Given the description of an element on the screen output the (x, y) to click on. 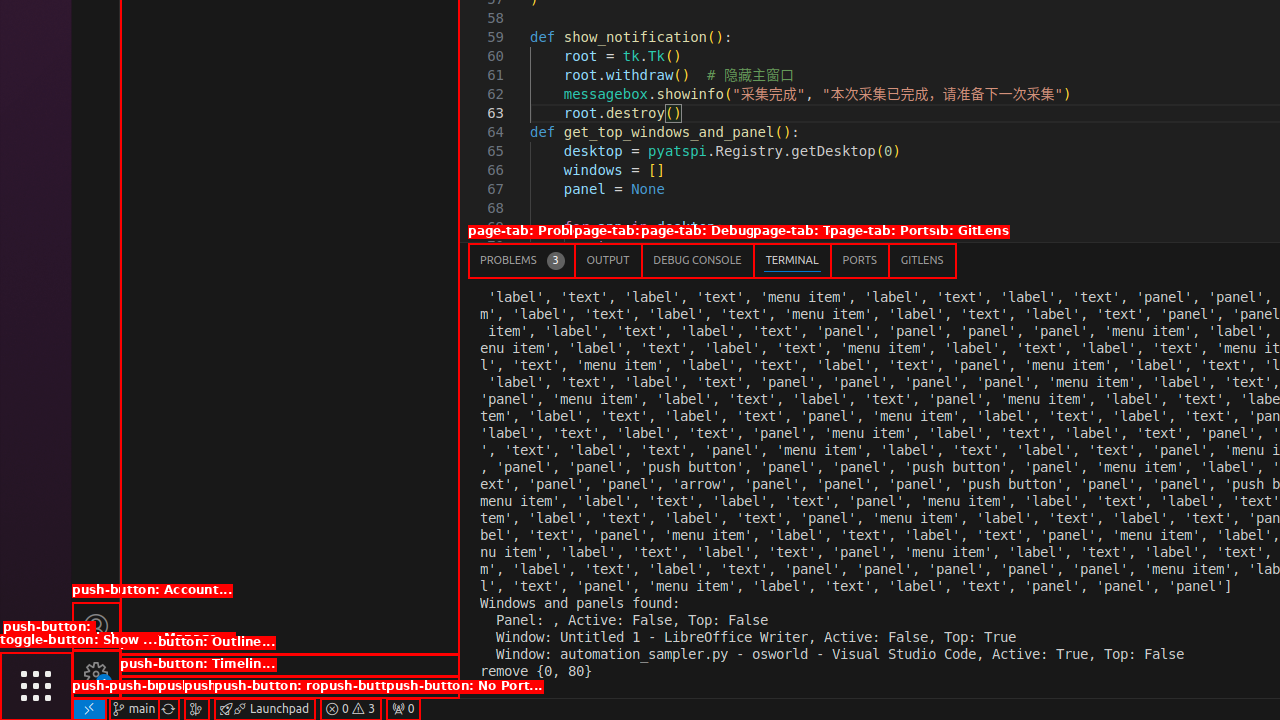
Debug Console (Ctrl+Shift+Y) Element type: page-tab (697, 260)
OSWorld (Git) - main, Checkout Branch/Tag... Element type: push-button (134, 709)
Terminal (Ctrl+`) Element type: page-tab (792, 260)
GitLens Element type: page-tab (922, 260)
Manage - New Code update available. Element type: push-button (96, 674)
